Given the description of an element on the screen output the (x, y) to click on. 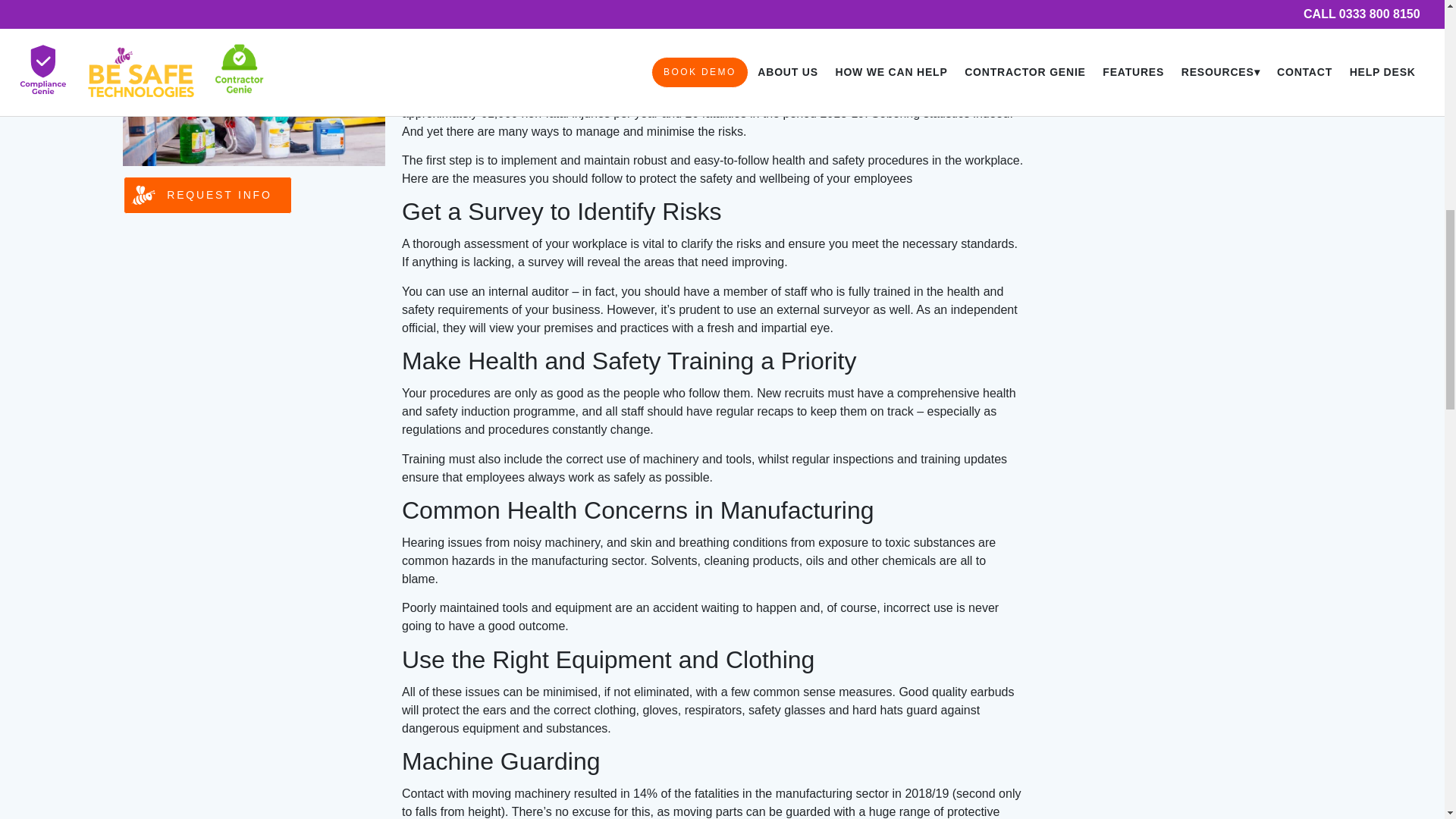
REQUEST INFO (207, 194)
Blog (1068, 29)
61,000 non-fatal injuries per year and 26 fatalities (612, 113)
